Given the description of an element on the screen output the (x, y) to click on. 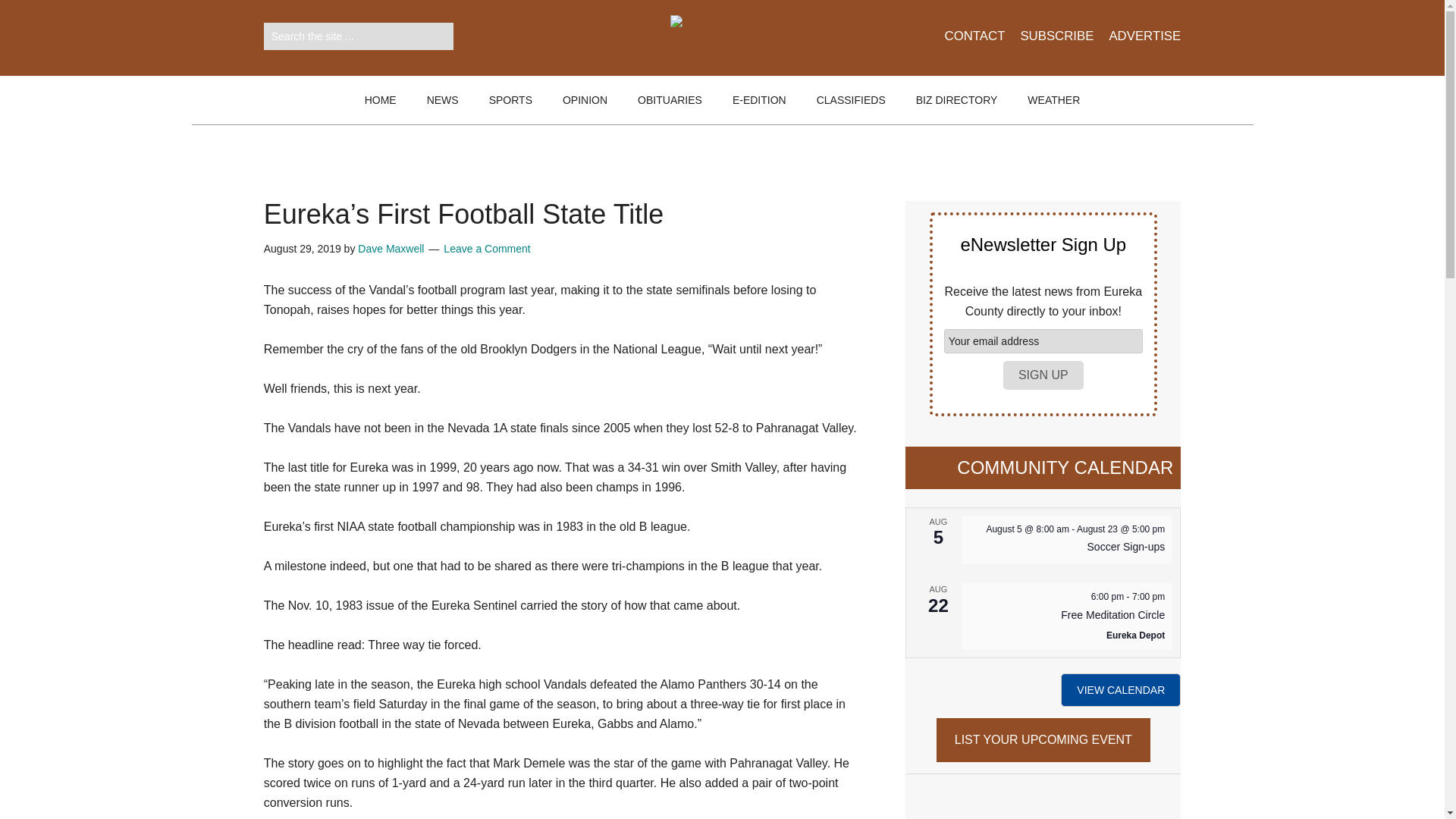
SUBSCRIBE (1048, 46)
E-EDITION (759, 100)
Eureka Depot (1135, 635)
Sign up (1043, 375)
SPORTS (510, 100)
Free Meditation Circle (1112, 615)
CLASSIFIEDS (851, 100)
LIST YOUR UPCOMING EVENT (1043, 740)
WEATHER (1052, 100)
